Given the description of an element on the screen output the (x, y) to click on. 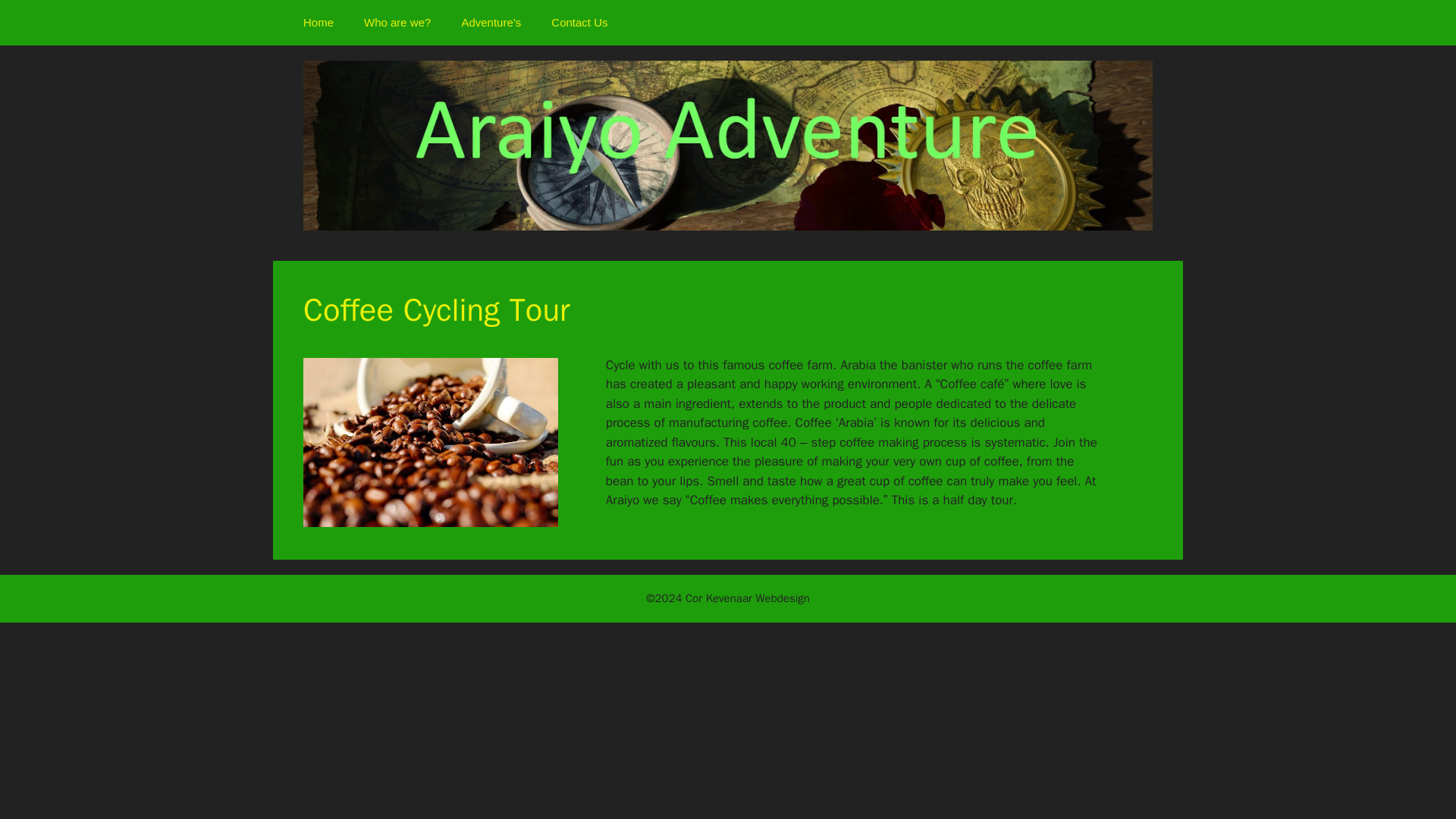
Contact Us (579, 22)
Home (318, 22)
Who are we? (397, 22)
